Given the description of an element on the screen output the (x, y) to click on. 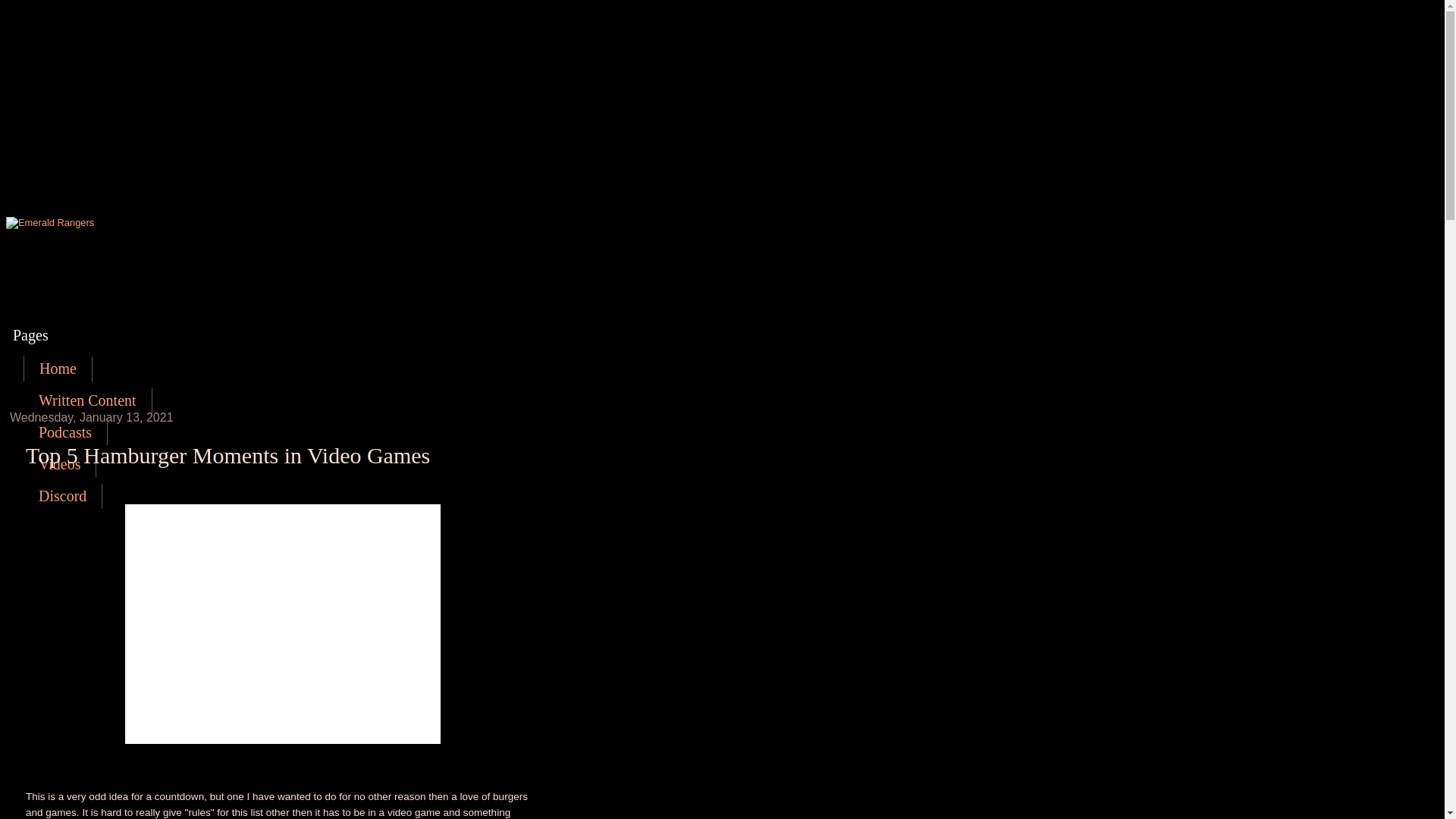
Home (58, 368)
Discord (62, 496)
Videos (59, 464)
Written Content (87, 400)
Podcasts (65, 432)
